Given the description of an element on the screen output the (x, y) to click on. 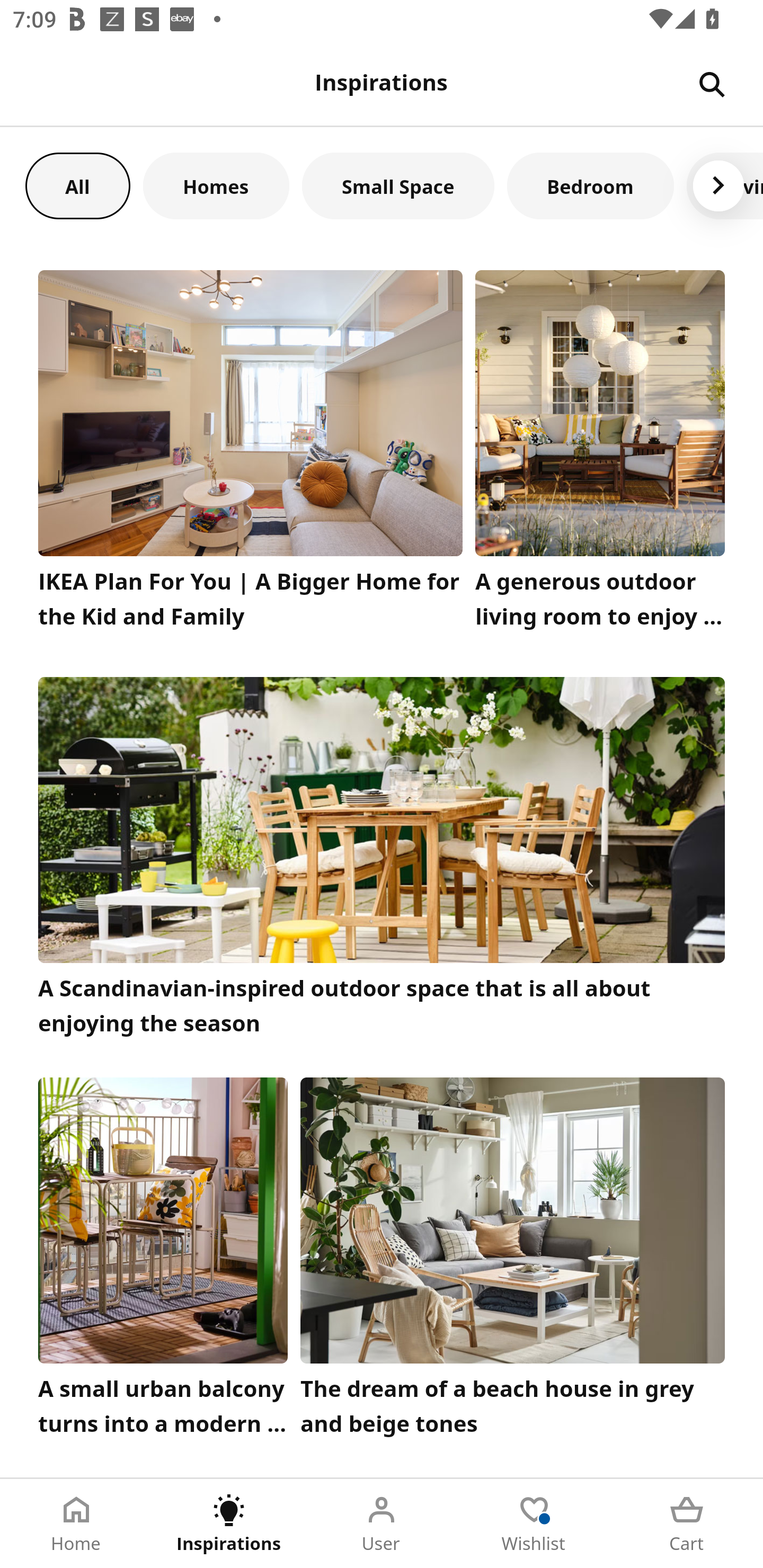
All (77, 185)
Homes (216, 185)
Small Space (398, 185)
Bedroom (590, 185)
The dream of a beach house in grey and beige tones (512, 1261)
Home
Tab 1 of 5 (76, 1522)
Inspirations
Tab 2 of 5 (228, 1522)
User
Tab 3 of 5 (381, 1522)
Wishlist
Tab 4 of 5 (533, 1522)
Cart
Tab 5 of 5 (686, 1522)
